Given the description of an element on the screen output the (x, y) to click on. 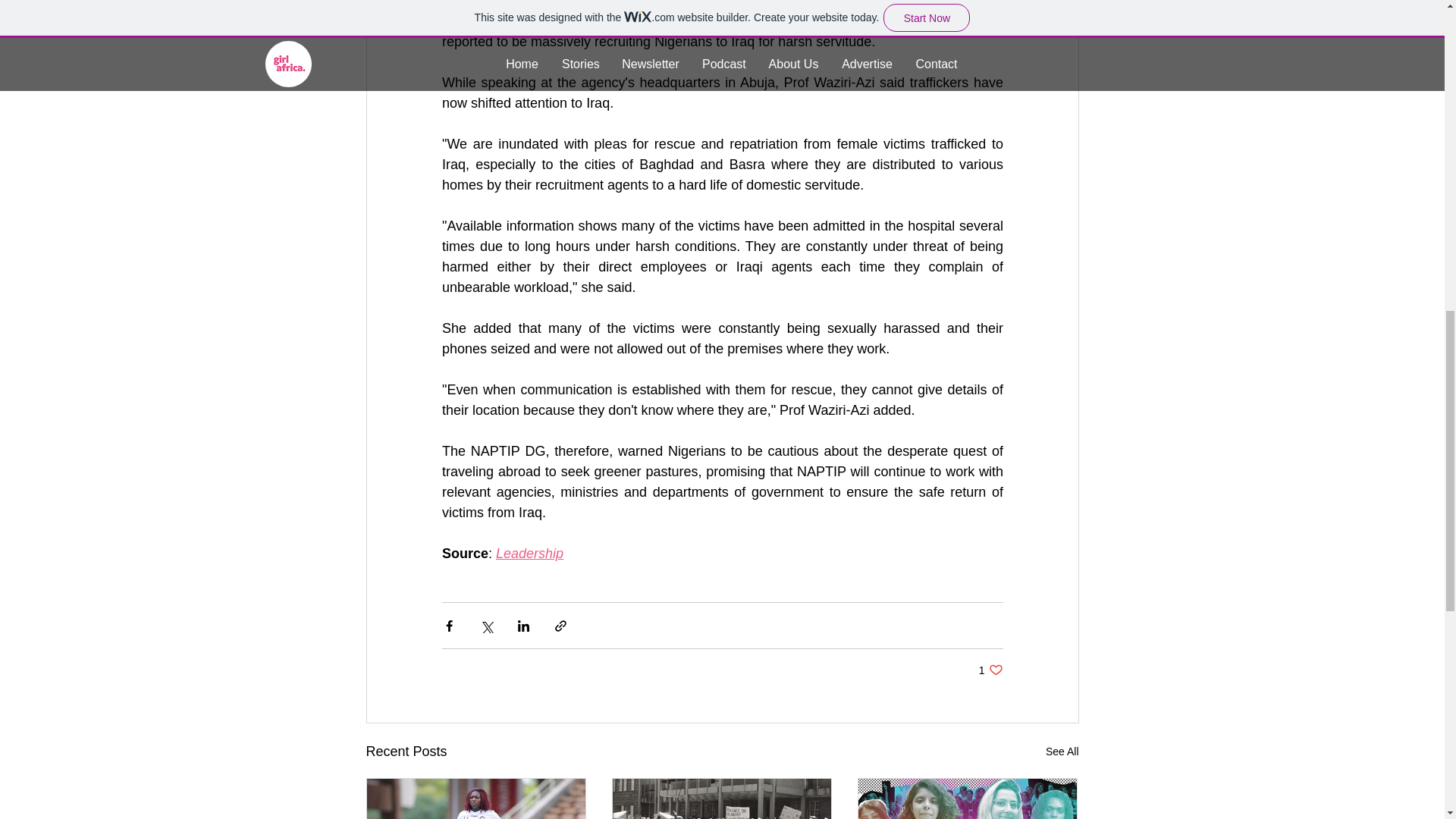
See All (1061, 751)
Leadership (990, 669)
